Given the description of an element on the screen output the (x, y) to click on. 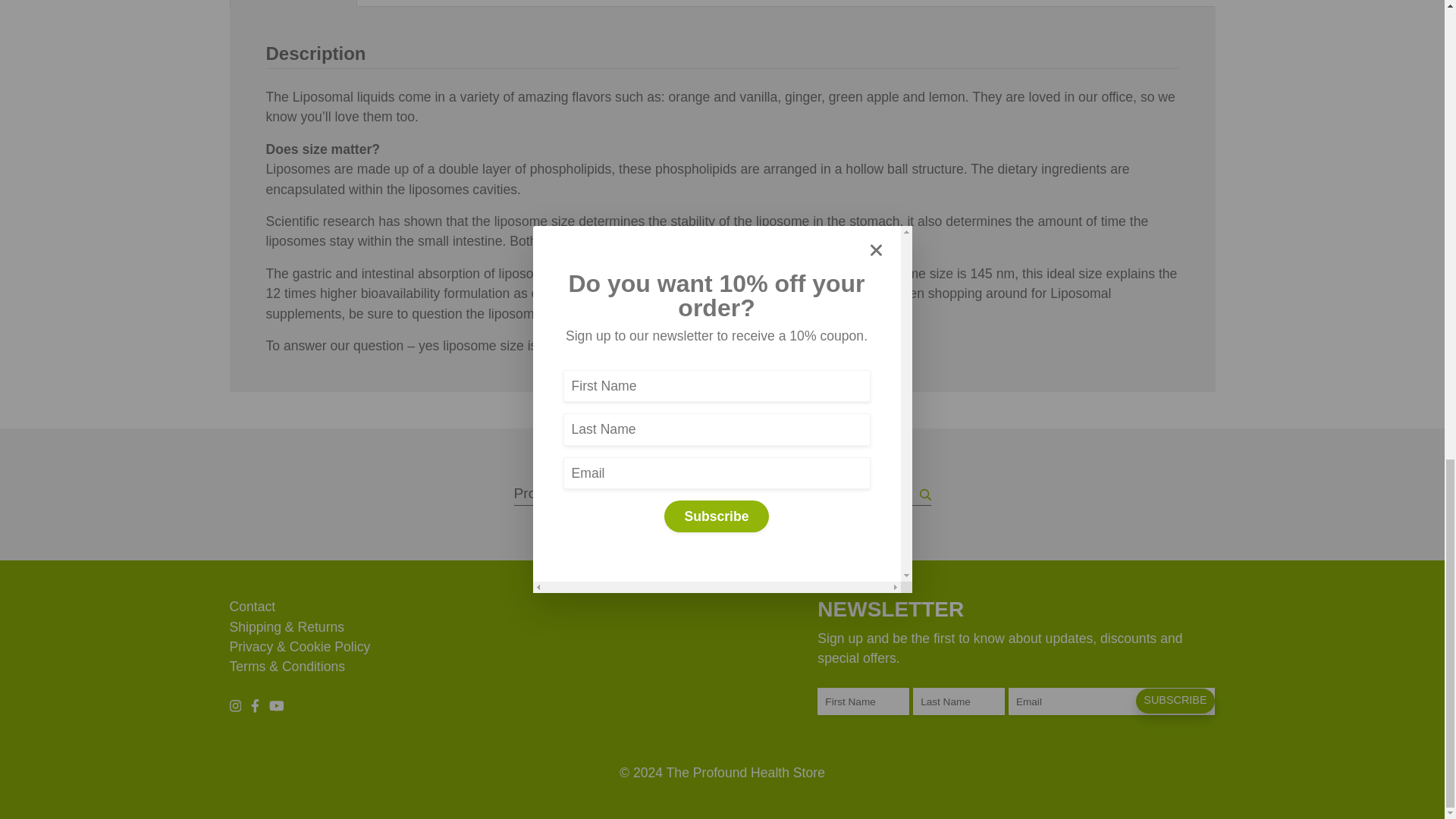
Subscribe (1174, 700)
Subscribe (1174, 700)
Contact (251, 606)
